Given the description of an element on the screen output the (x, y) to click on. 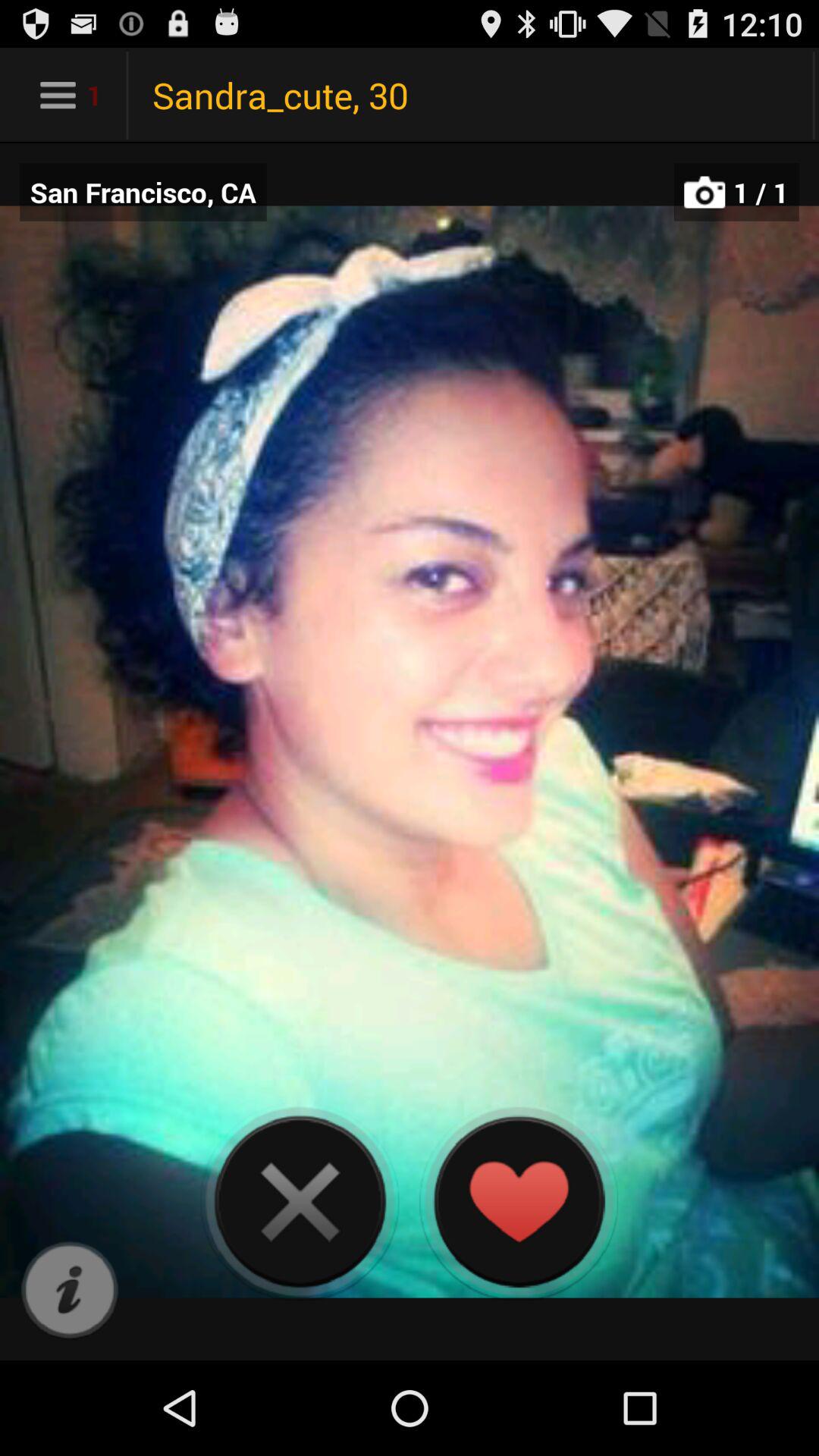
delete (299, 1200)
